Given the description of an element on the screen output the (x, y) to click on. 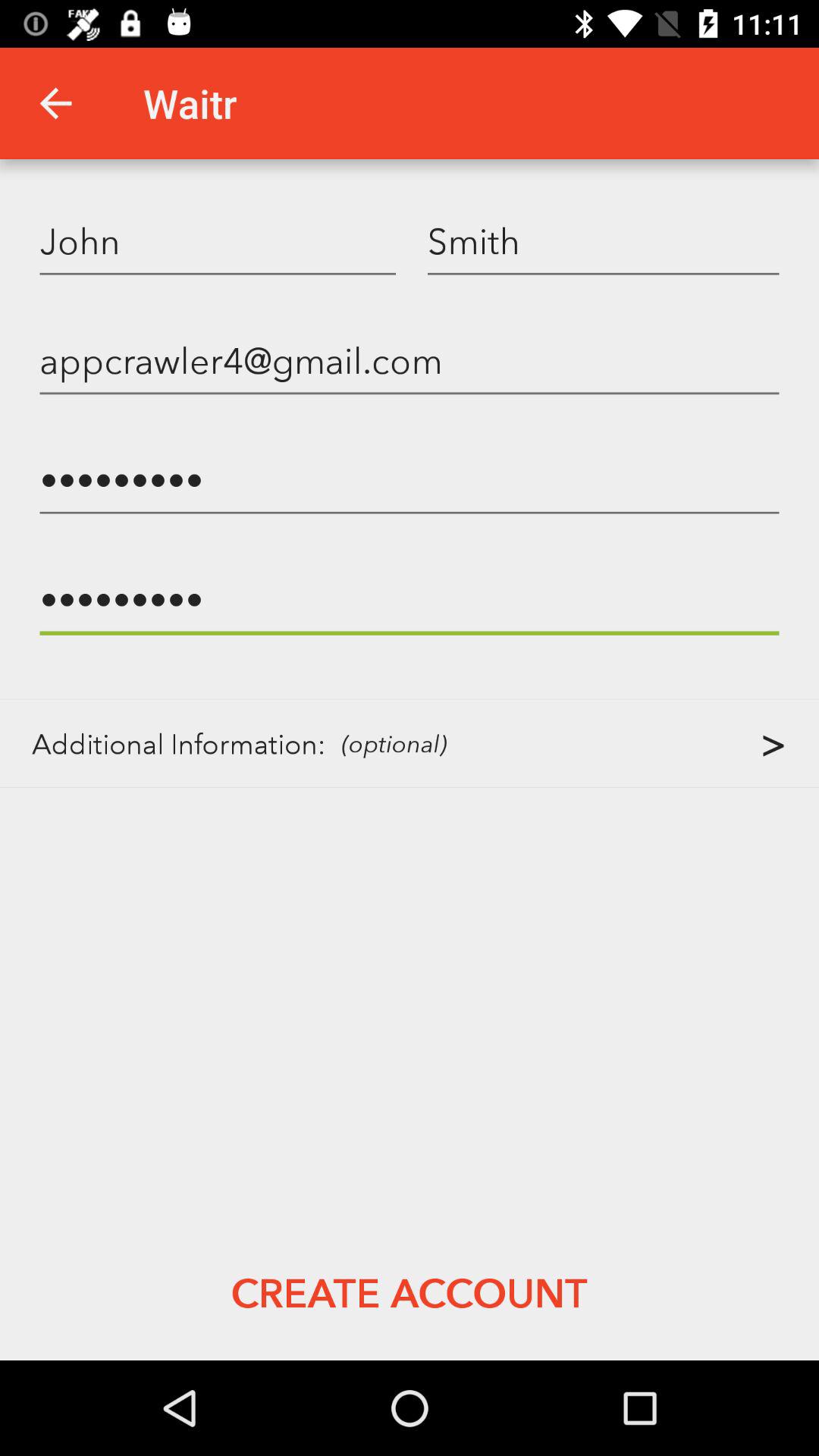
press the item at the top right corner (603, 240)
